Given the description of an element on the screen output the (x, y) to click on. 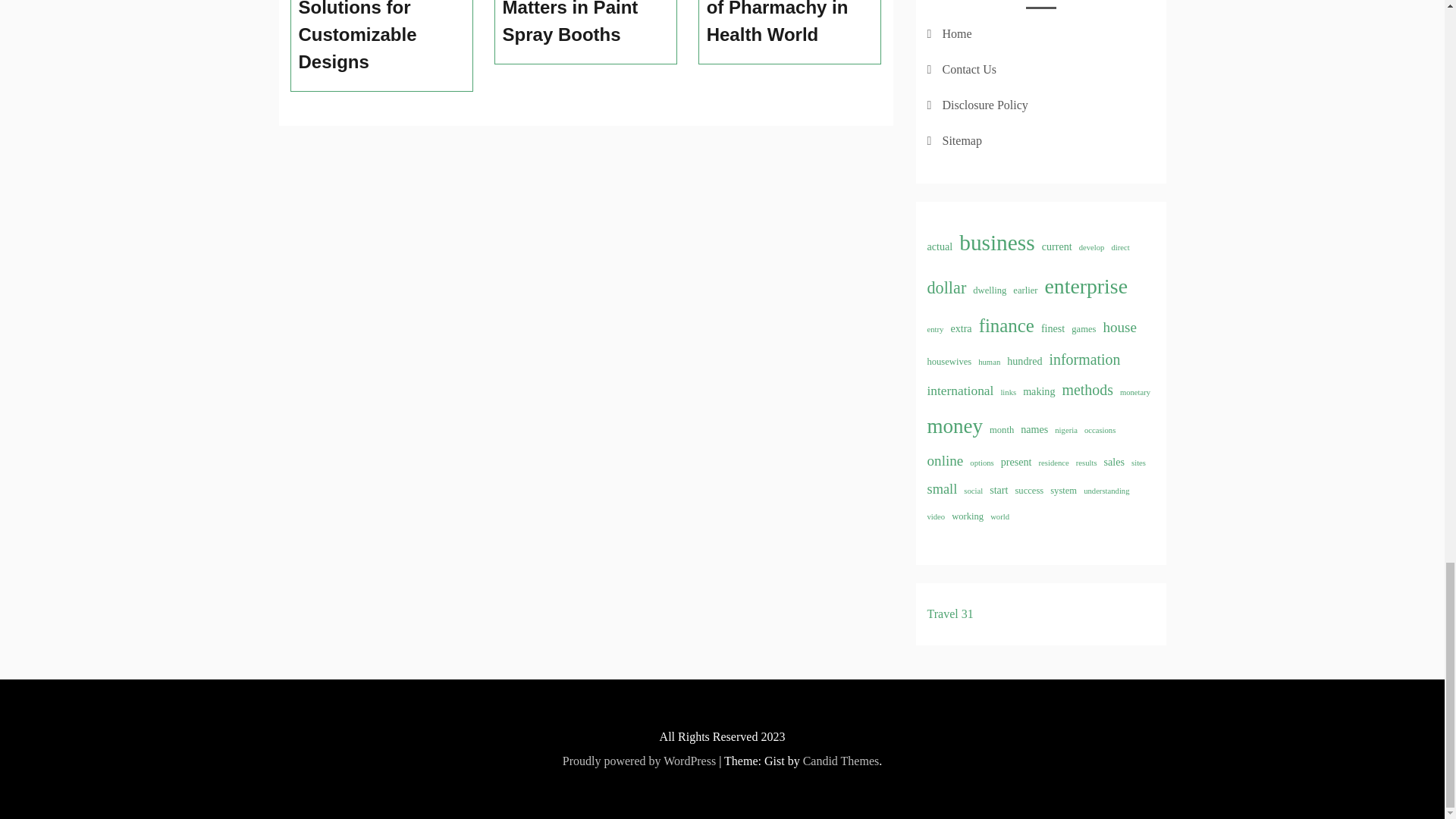
T-Slot Aluminum Solutions for Customizable Designs (381, 38)
Why Ventilation Matters in Paint Spray Booths (585, 24)
The Significance of Pharmachy in Health World (789, 24)
